Given the description of an element on the screen output the (x, y) to click on. 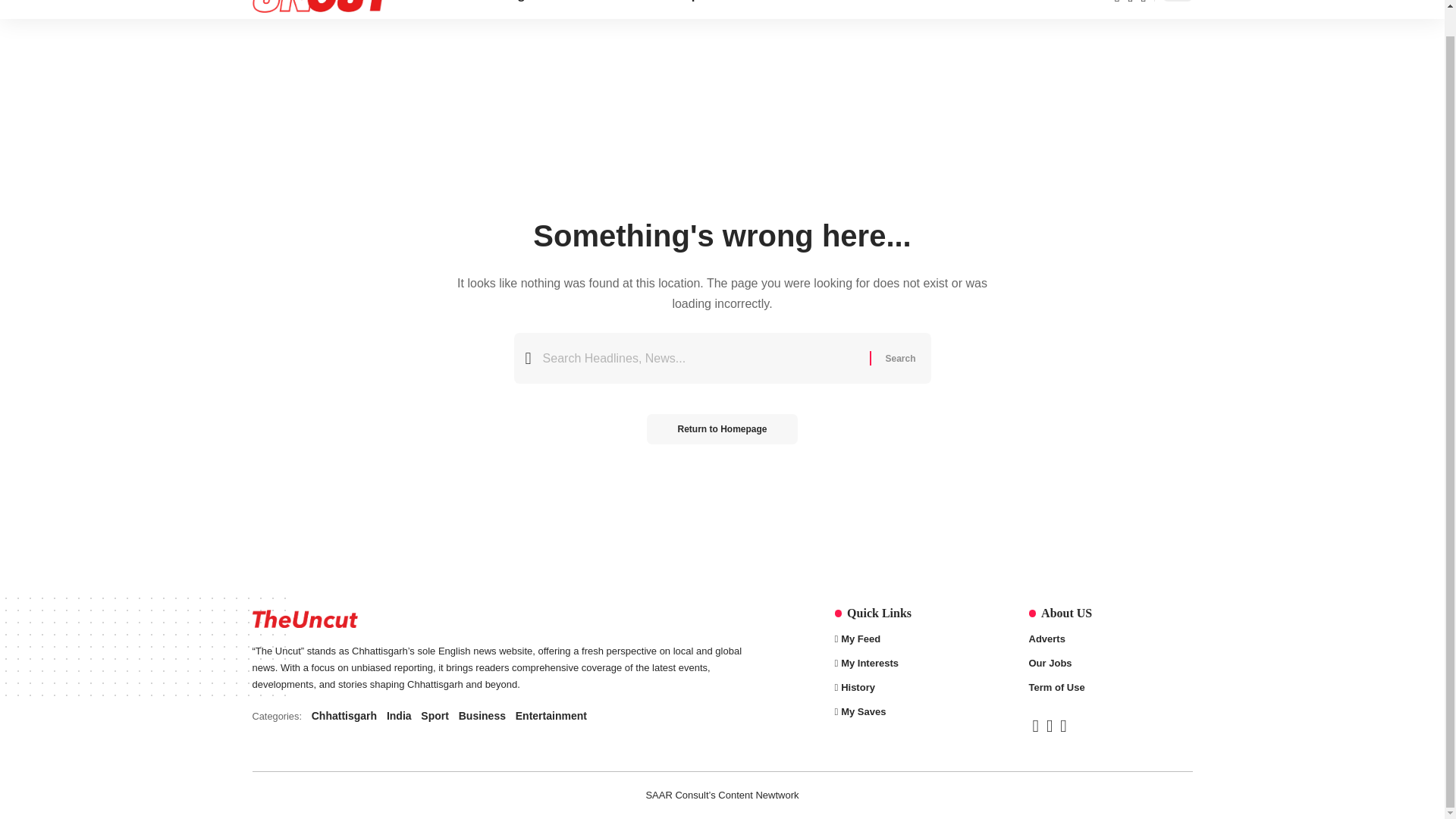
Business (636, 9)
Chhattisgarh (505, 9)
Search (899, 358)
Entertainment (837, 9)
India (576, 9)
The Uncut (498, 715)
Home (320, 9)
Sports (432, 9)
Search (703, 9)
